Given the description of an element on the screen output the (x, y) to click on. 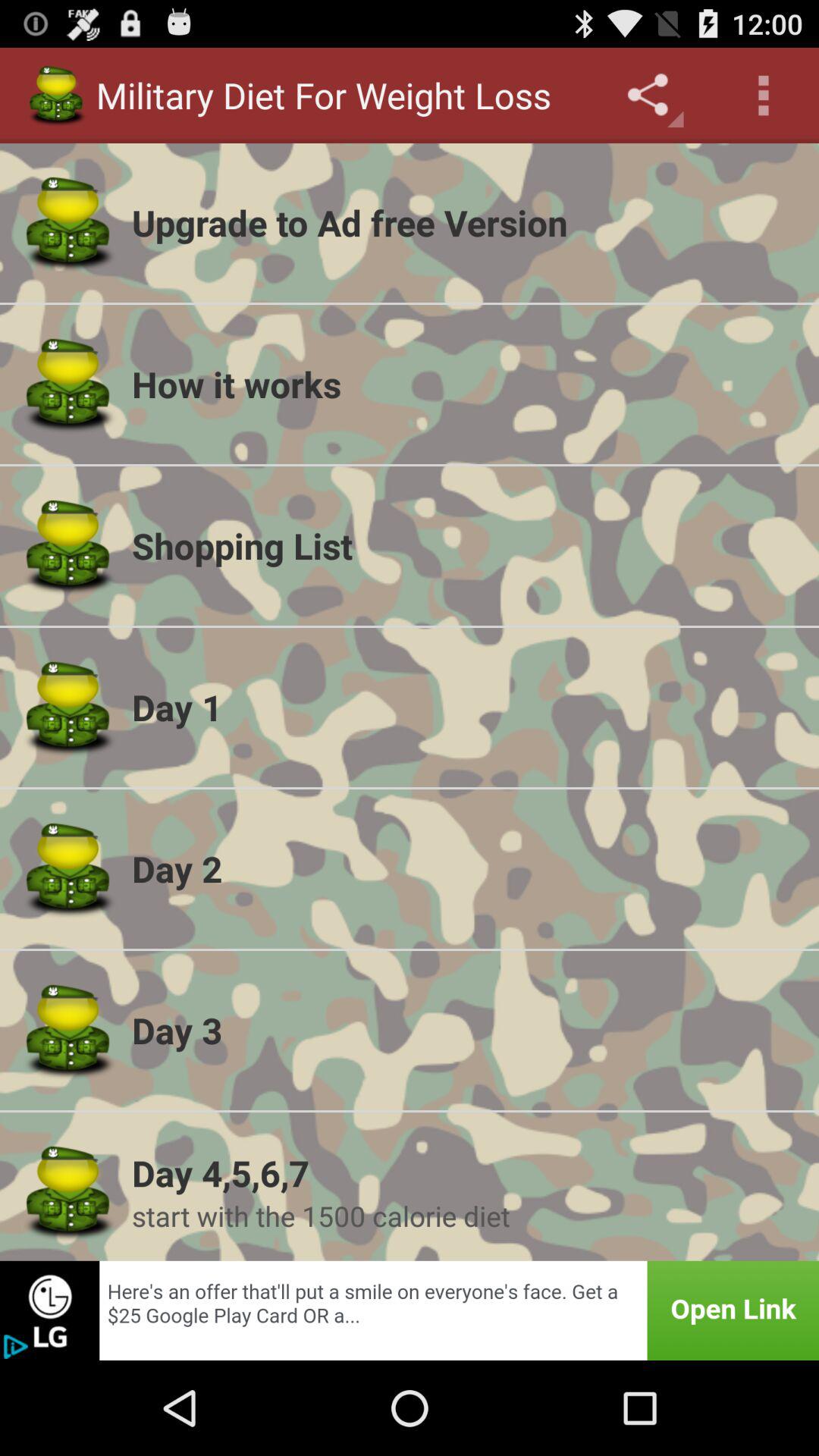
select the app below day 4 5 (465, 1215)
